Given the description of an element on the screen output the (x, y) to click on. 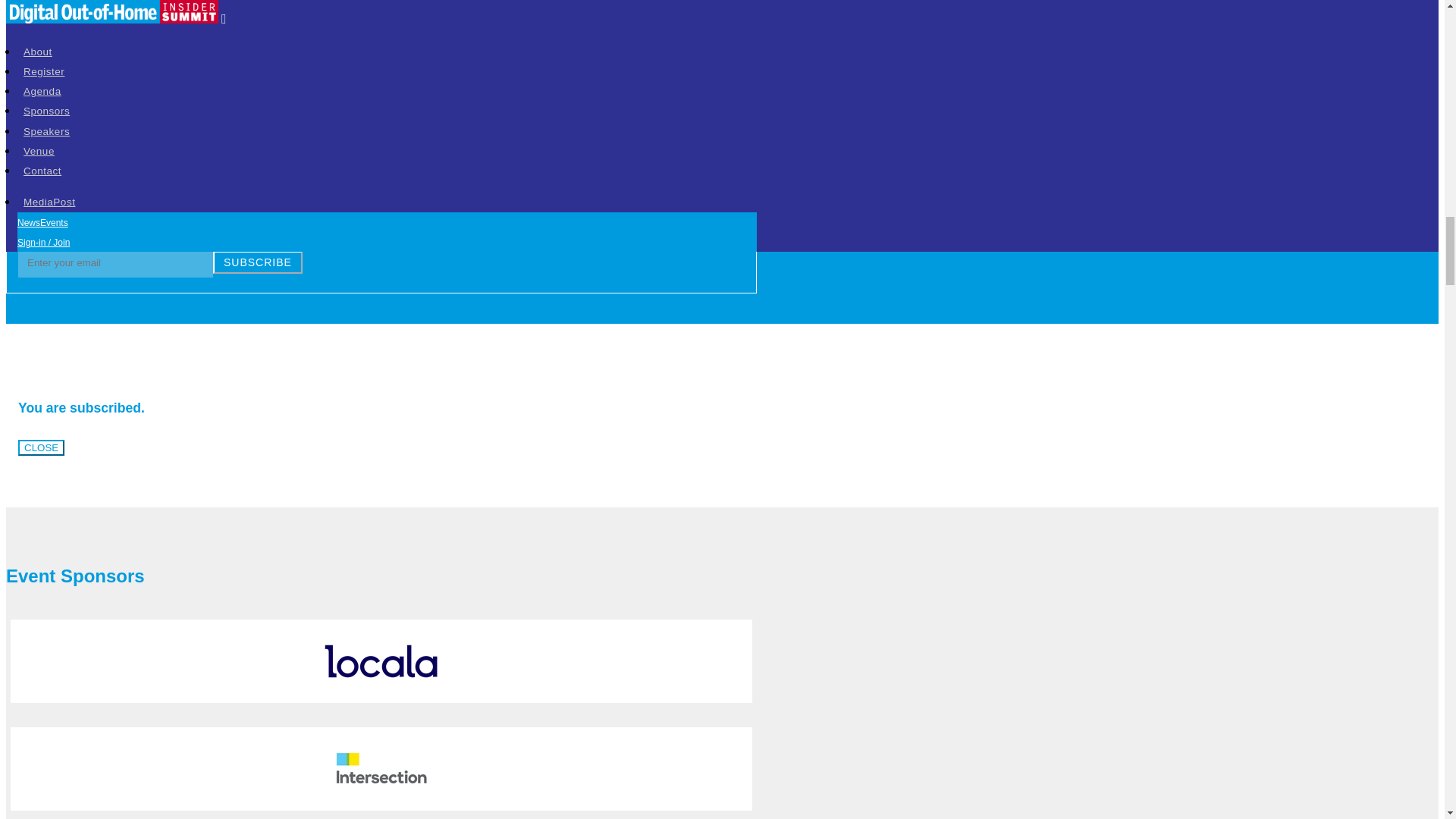
REGISTER NOW (60, 138)
CLOSE (40, 447)
SUBSCRIBE (257, 261)
Activities Signup Form (196, 138)
